Given the description of an element on the screen output the (x, y) to click on. 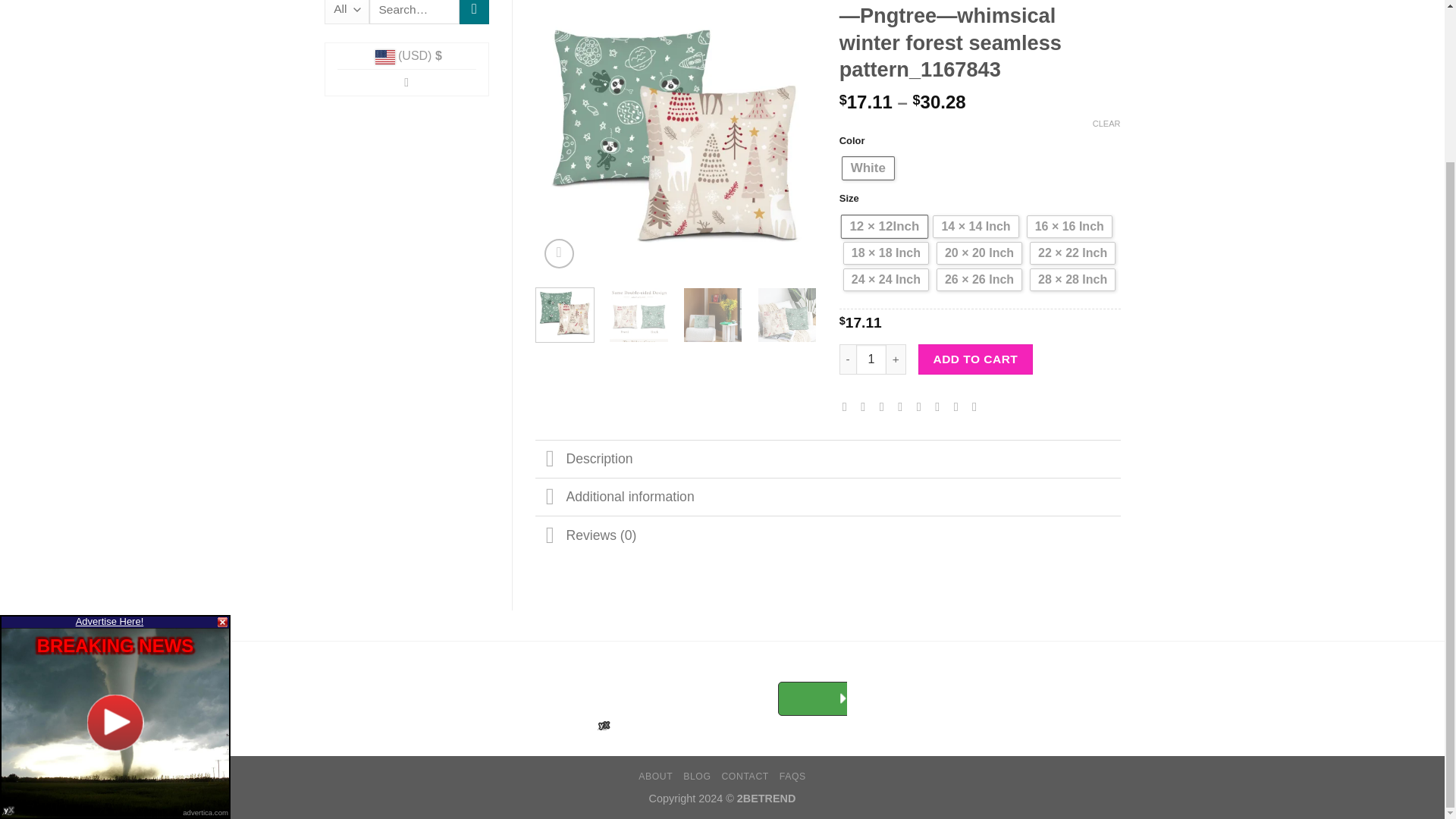
1 (871, 358)
Search (474, 12)
Advertise Here! (109, 429)
